Given the description of an element on the screen output the (x, y) to click on. 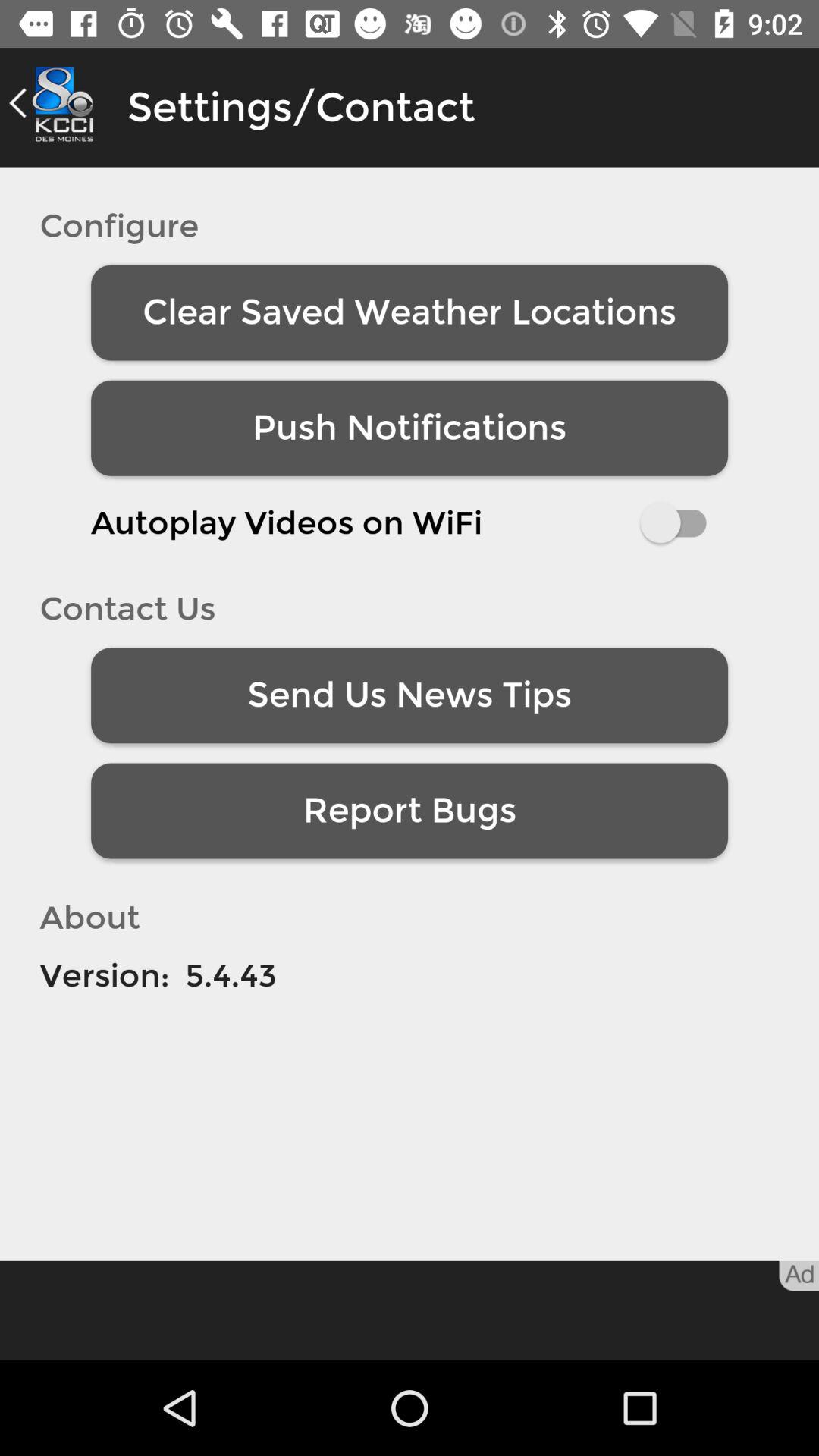
swipe to the autoplay videos on icon (409, 522)
